Given the description of an element on the screen output the (x, y) to click on. 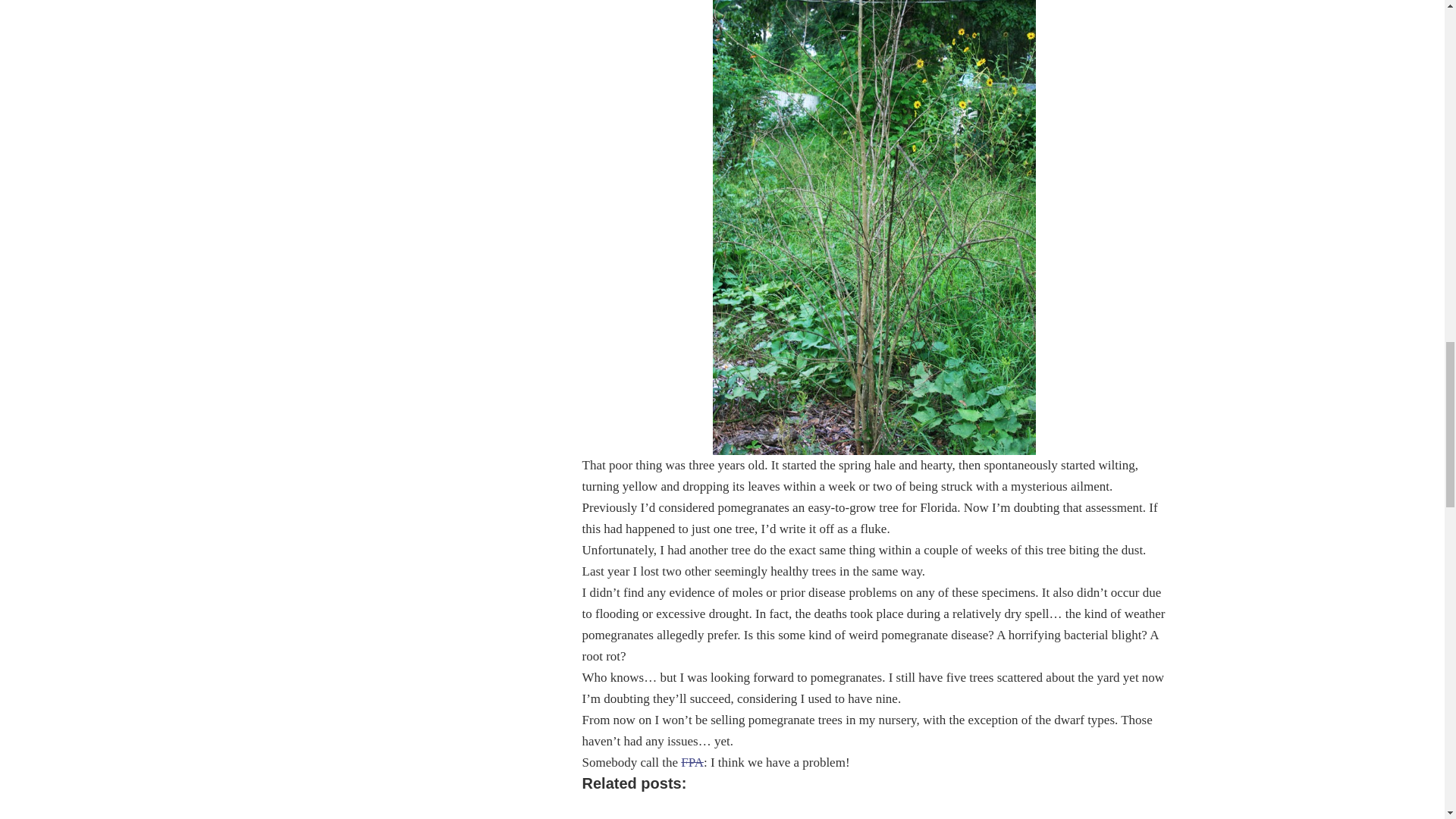
Diggin' these phat beets (888, 812)
Update (643, 812)
New gardens are in! (765, 812)
Survival Plant Profile: Turnips (1010, 812)
FPA (692, 762)
